Given the description of an element on the screen output the (x, y) to click on. 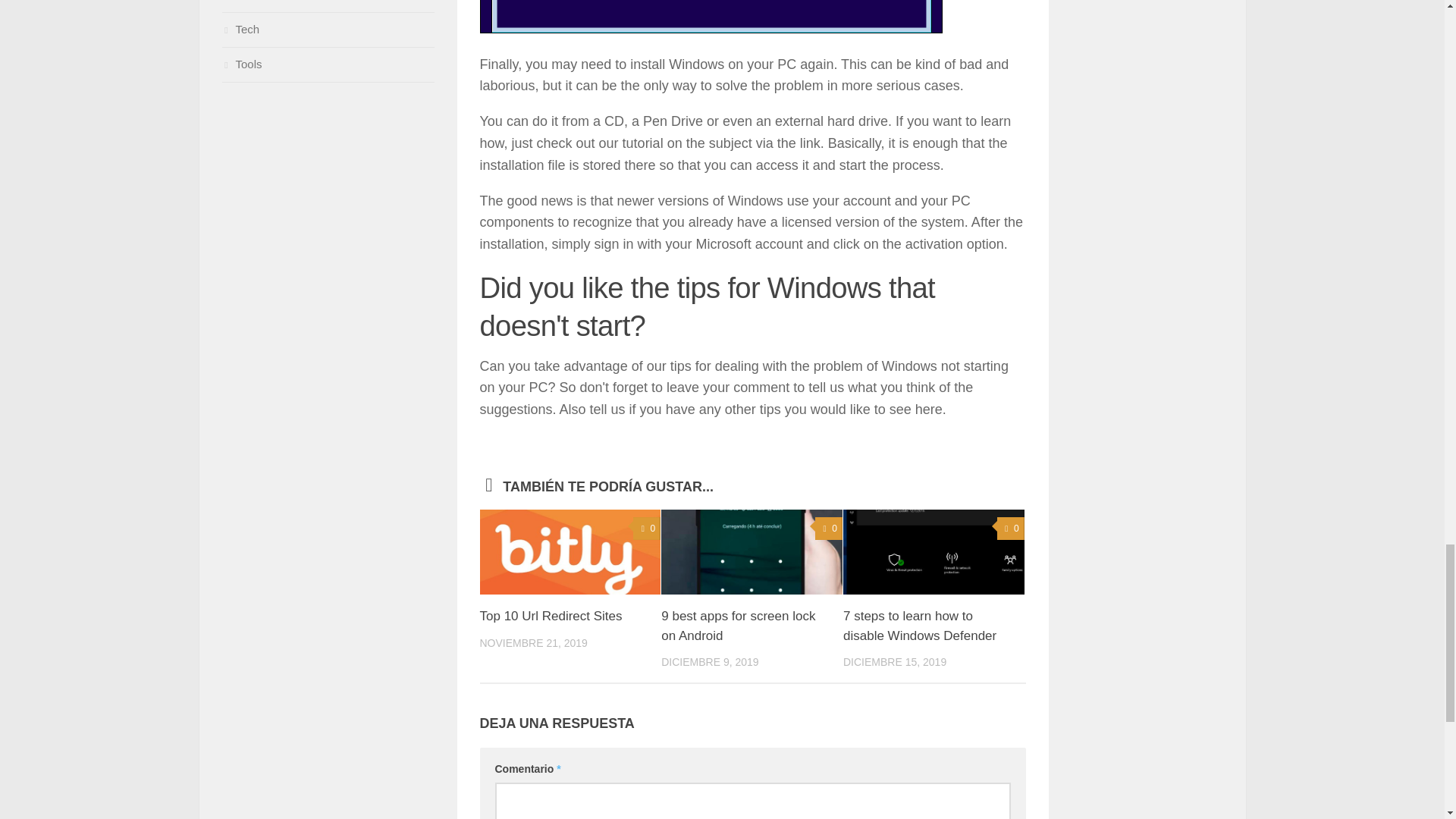
Enlace permanente a Top 10 Url Redirect Sites (550, 616)
Top 10 Url Redirect Sites (550, 616)
Enlace permanente a 9 best apps for screen lock on Android (738, 625)
install windows (710, 16)
0 (829, 528)
0 (647, 528)
0 (1011, 528)
7 steps to learn how to disable Windows Defender (919, 625)
9 best apps for screen lock on Android (738, 625)
